Given the description of an element on the screen output the (x, y) to click on. 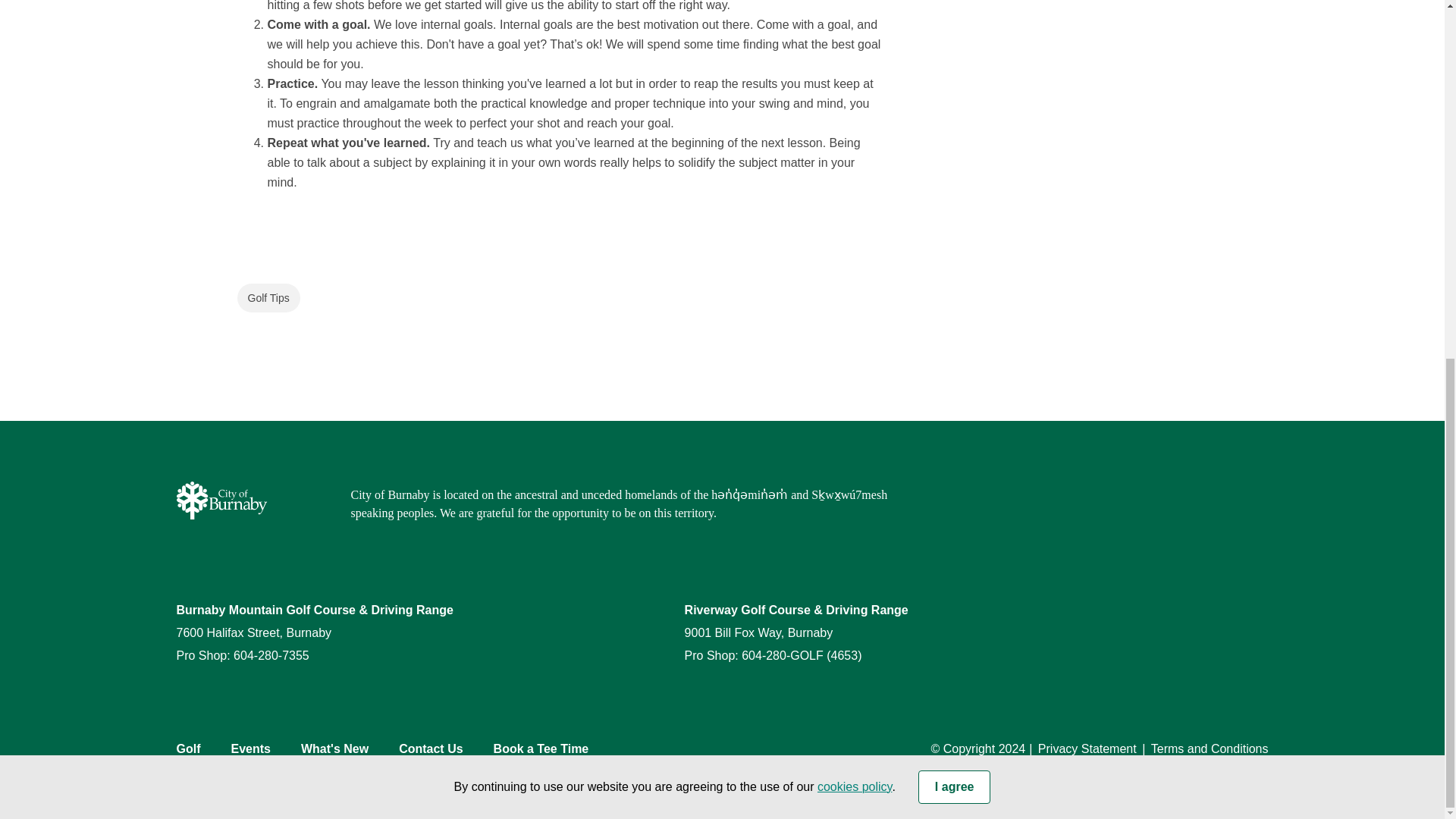
I agree (954, 151)
Terms and Conditions (1209, 748)
What's New (334, 748)
cookies policy (853, 151)
Golf (188, 748)
Golf Tips (267, 297)
Contact Us (430, 748)
Privacy Statement (1087, 748)
Book a Tee Time (541, 748)
Events (249, 748)
Privacy Statement (853, 151)
